Given the description of an element on the screen output the (x, y) to click on. 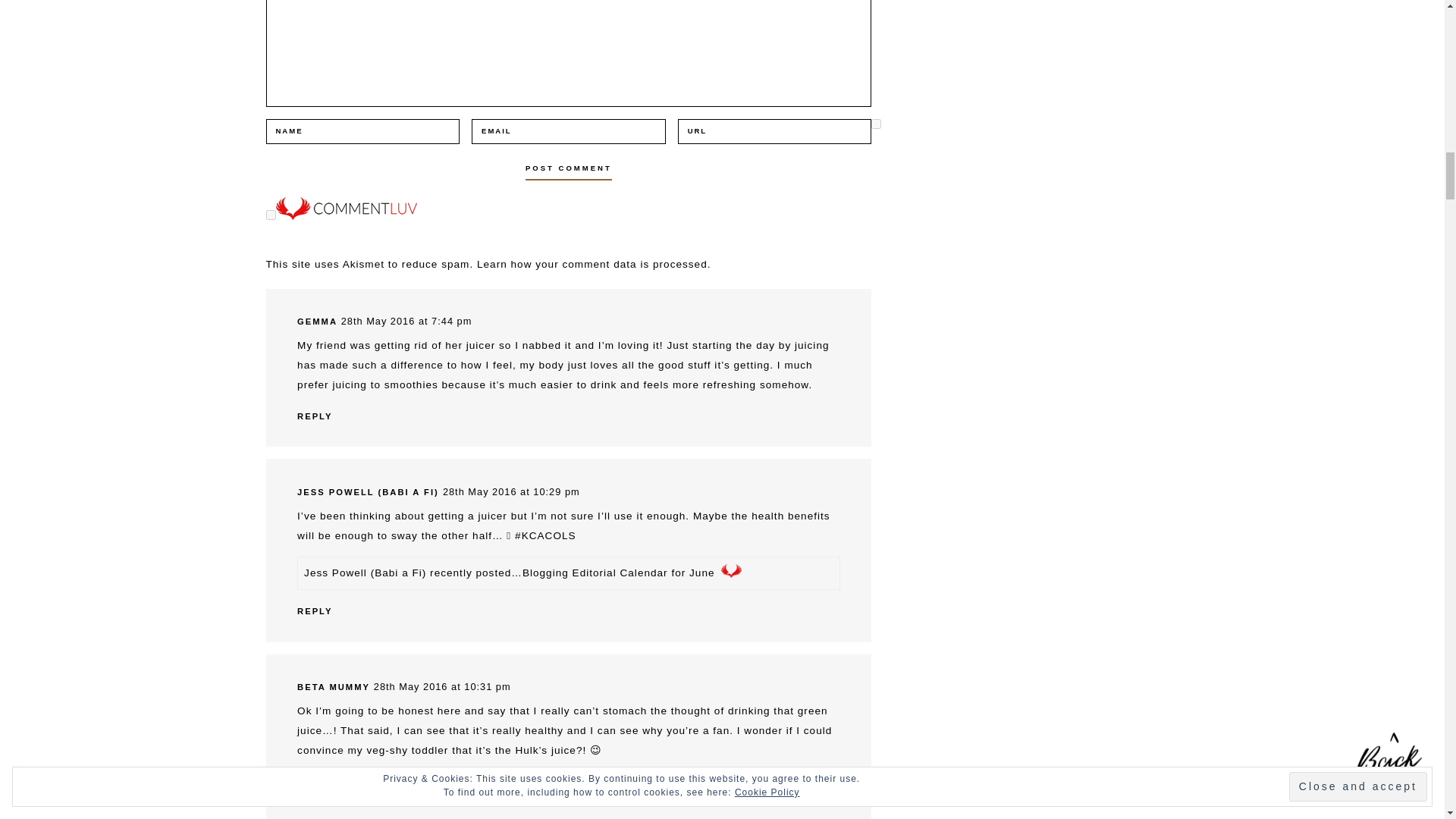
Post Comment (568, 168)
1 (875, 123)
on (269, 214)
